Given the description of an element on the screen output the (x, y) to click on. 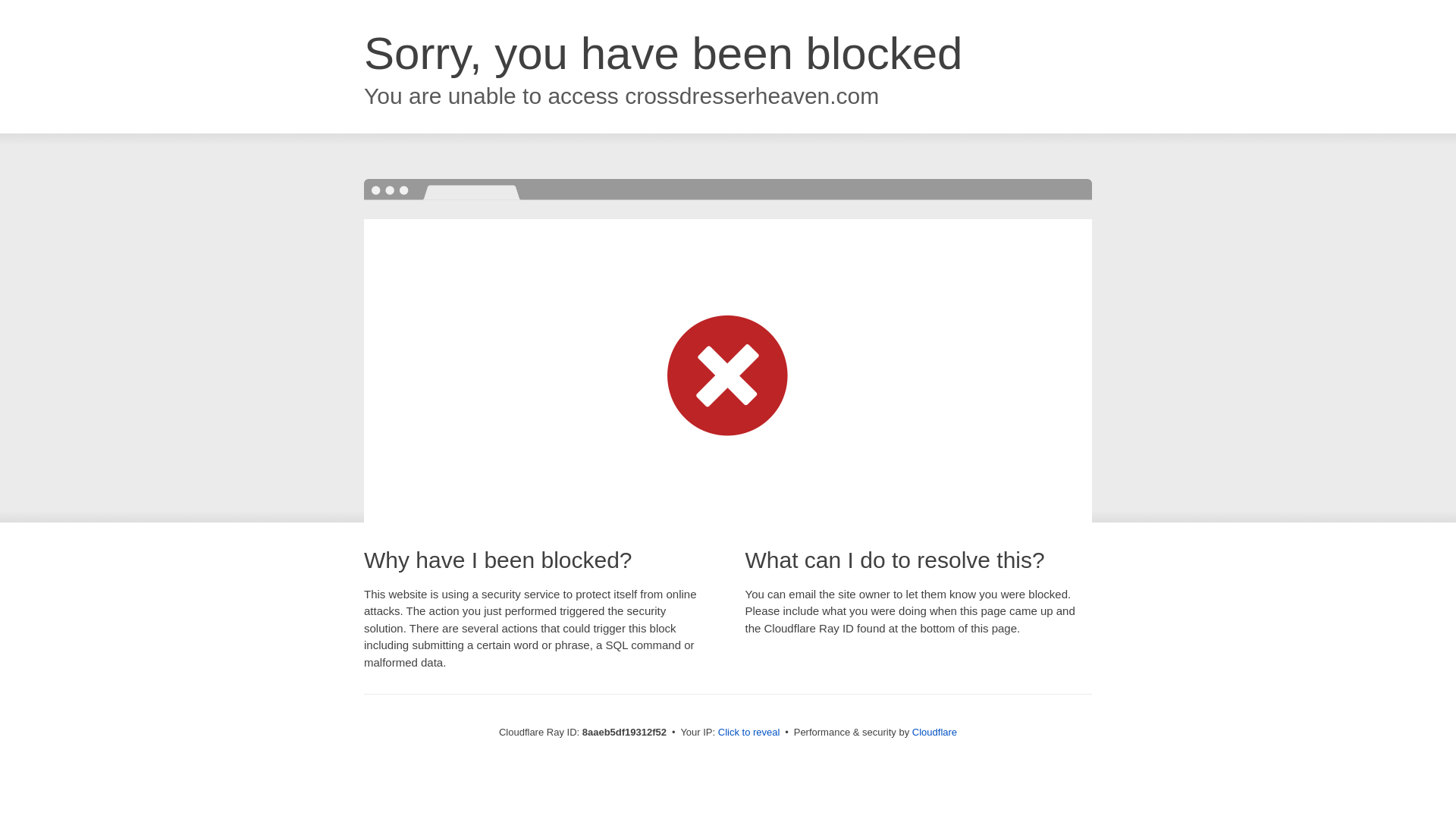
Click to reveal (748, 732)
Cloudflare (934, 731)
